Given the description of an element on the screen output the (x, y) to click on. 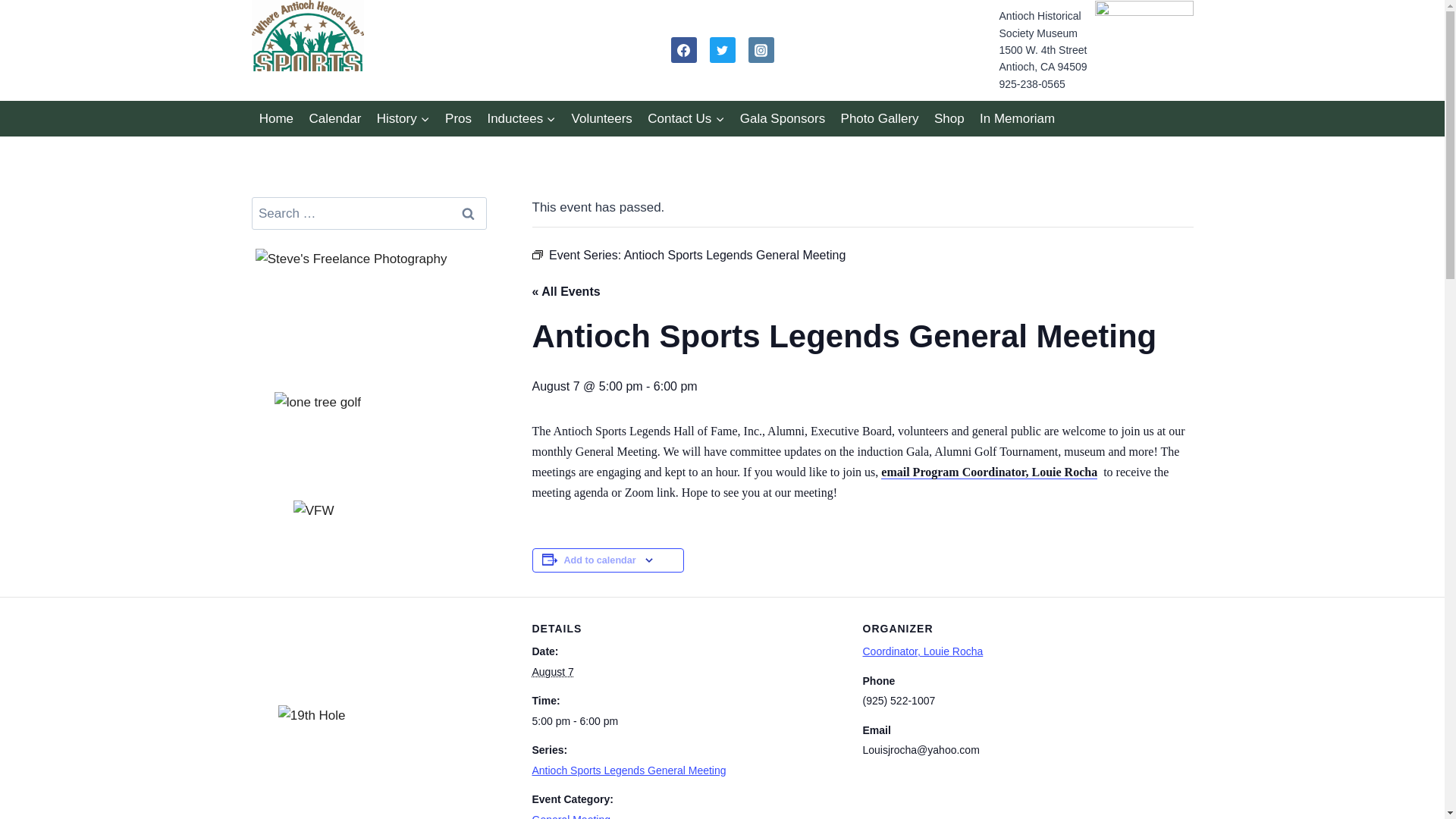
Gala Sponsors (782, 118)
Home (276, 118)
Pros (458, 118)
Contact Us (686, 118)
Antioch Sports Legends General Meeting (629, 770)
In Memoriam (1017, 118)
Photo Gallery (879, 118)
Event Series (537, 254)
History (403, 118)
2024-08-07 (688, 720)
